Given the description of an element on the screen output the (x, y) to click on. 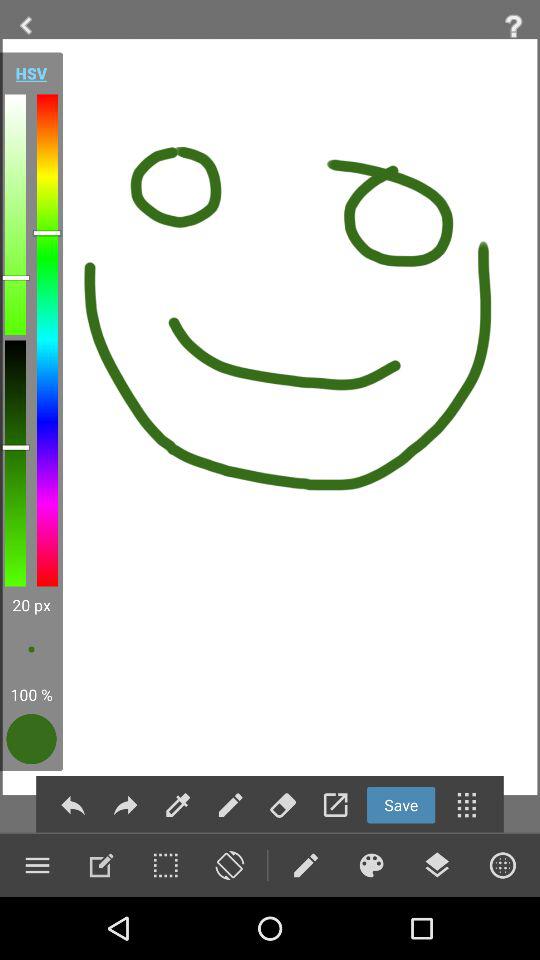
click to menu (502, 865)
